Given the description of an element on the screen output the (x, y) to click on. 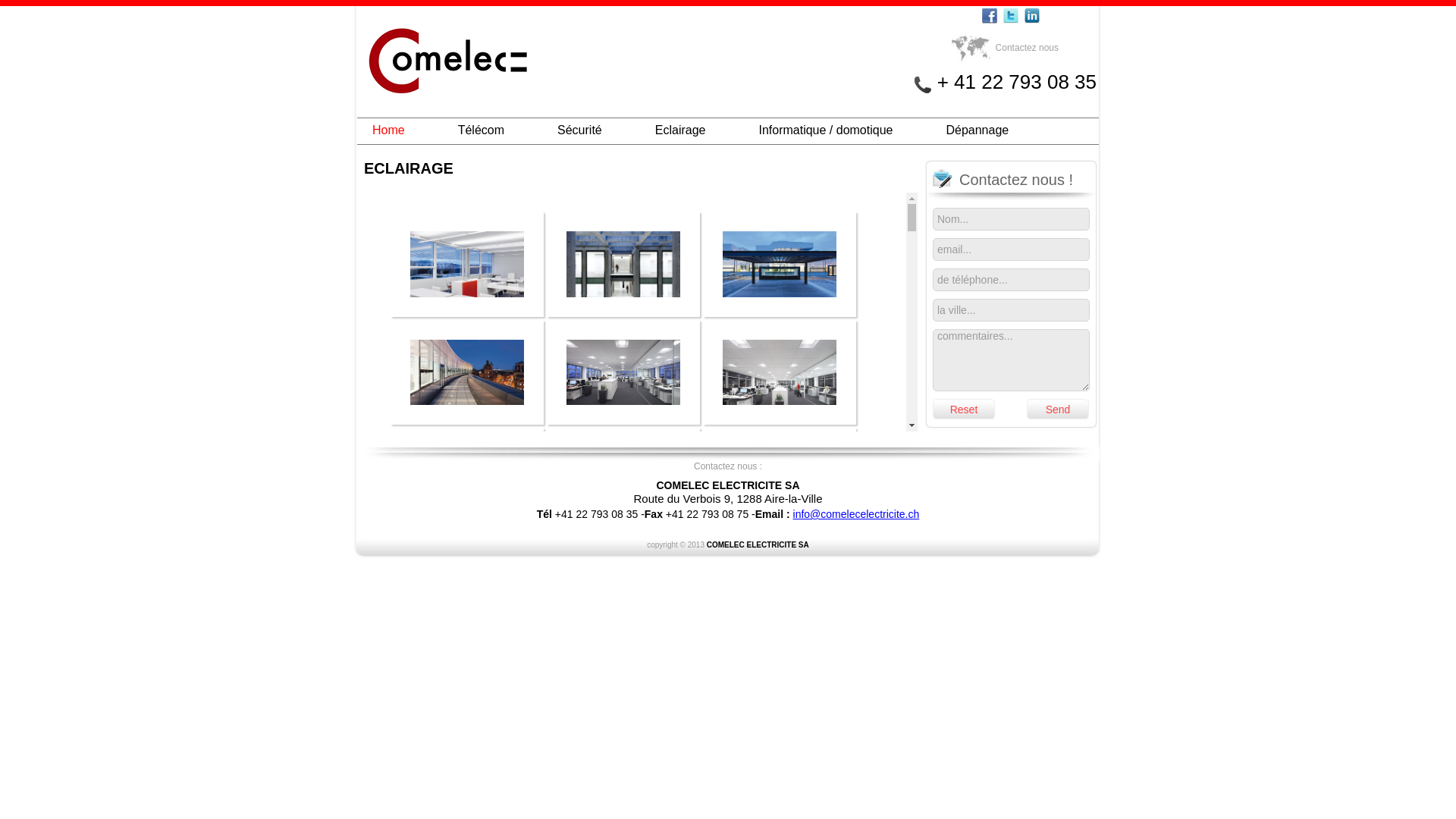
Image Description Element type: hover (622, 636)
Image Description Element type: hover (466, 312)
Image Description Element type: hover (779, 420)
Image Description Element type: hover (779, 636)
Image Description Element type: hover (466, 528)
Informatique / domotique Element type: text (825, 129)
Image Description Element type: hover (622, 420)
Image Description Element type: hover (622, 312)
Image Description Element type: hover (622, 528)
Image Description Element type: hover (779, 528)
Image Description Element type: hover (466, 636)
info@comelecelectricite.ch Element type: text (856, 514)
Image Description Element type: hover (466, 420)
Image Description Element type: hover (622, 745)
Eclairage Element type: text (680, 129)
Home Element type: text (388, 129)
Image Description Element type: hover (779, 745)
Send Element type: text (1057, 408)
Image Description Element type: hover (779, 312)
Image Description Element type: hover (466, 745)
